Given the description of an element on the screen output the (x, y) to click on. 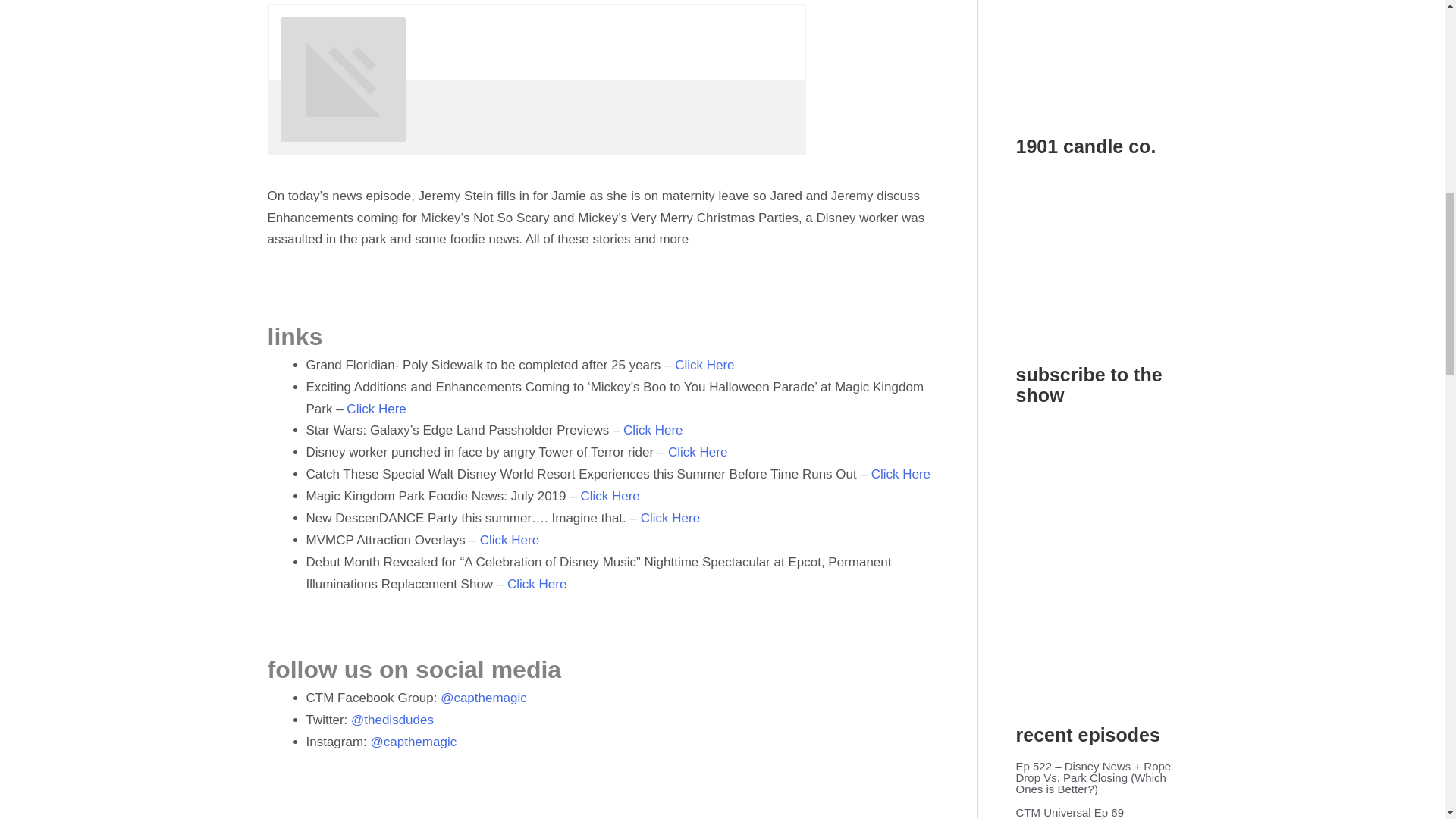
Click Here (670, 518)
Click Here (652, 430)
Click Here (536, 584)
Click Here (704, 364)
Click Here (376, 409)
Click Here (900, 473)
Click Here (609, 495)
Click Here (697, 452)
Click Here (509, 540)
